Given the description of an element on the screen output the (x, y) to click on. 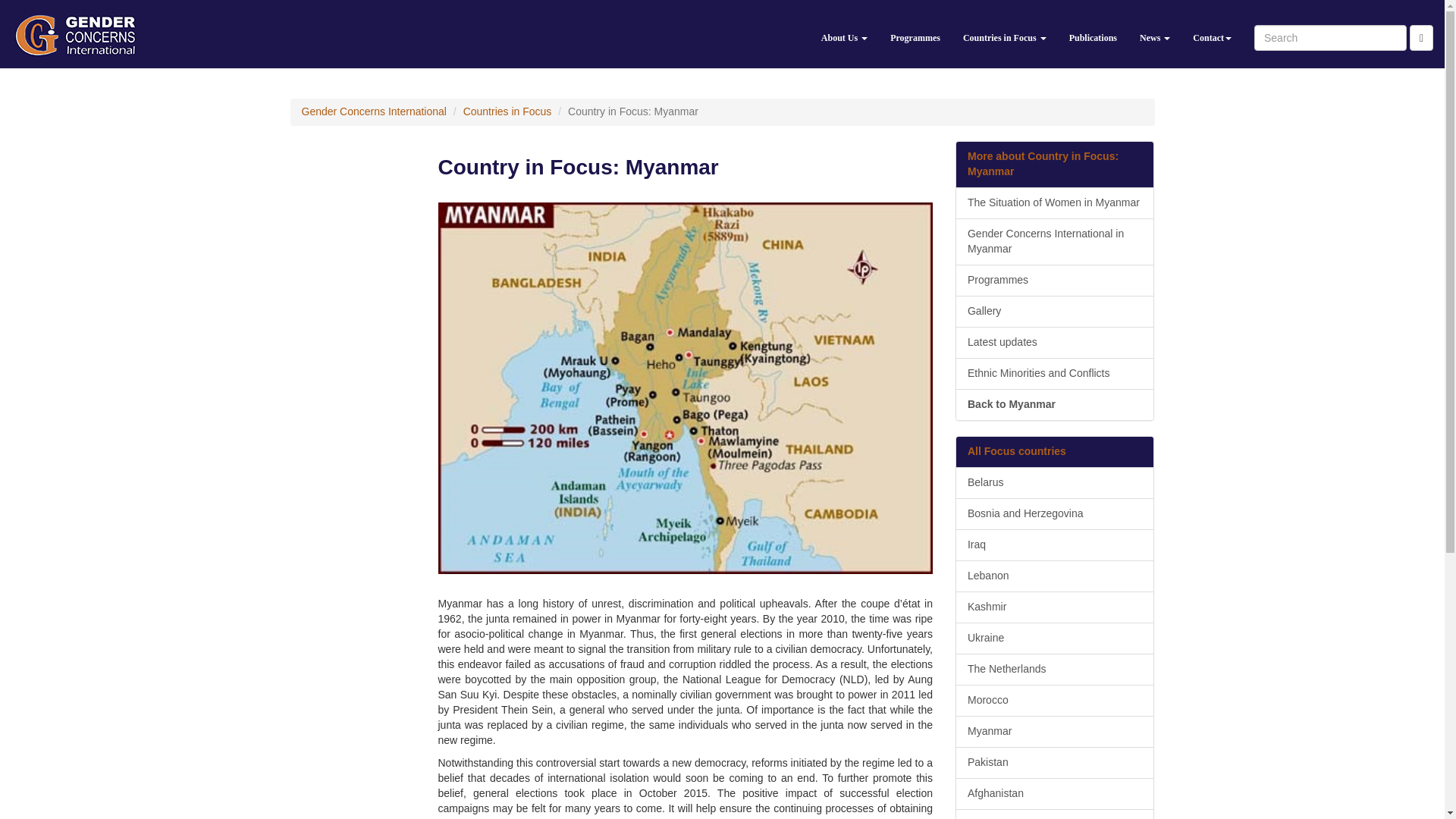
Gender Concerns International (373, 111)
About Us (844, 33)
Countries in Focus (1005, 33)
Contact (1211, 33)
Publications (1093, 33)
Programmes (915, 33)
